Given the description of an element on the screen output the (x, y) to click on. 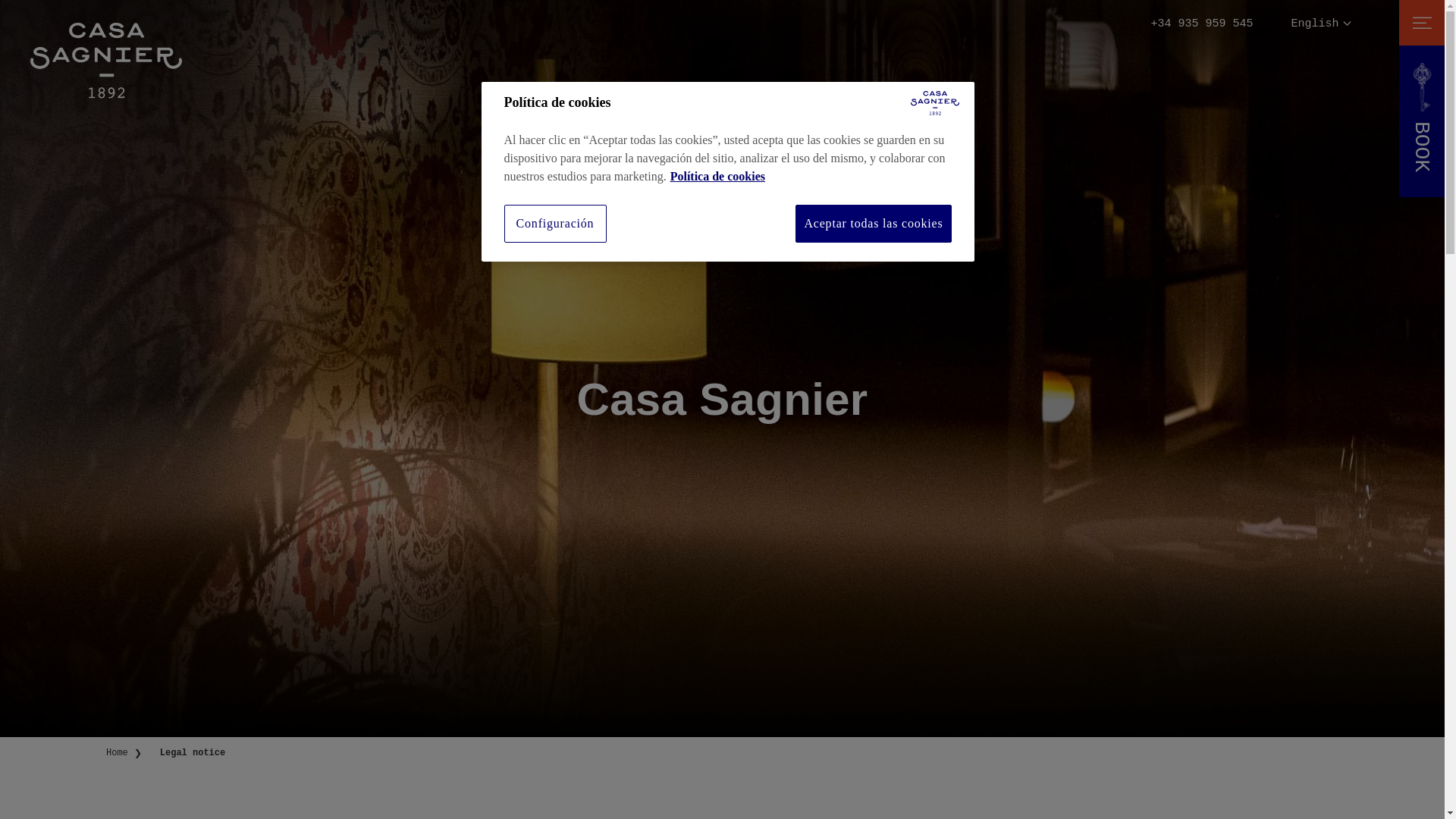
Home (117, 752)
Legal notice (192, 752)
Home (117, 752)
